Given the description of an element on the screen output the (x, y) to click on. 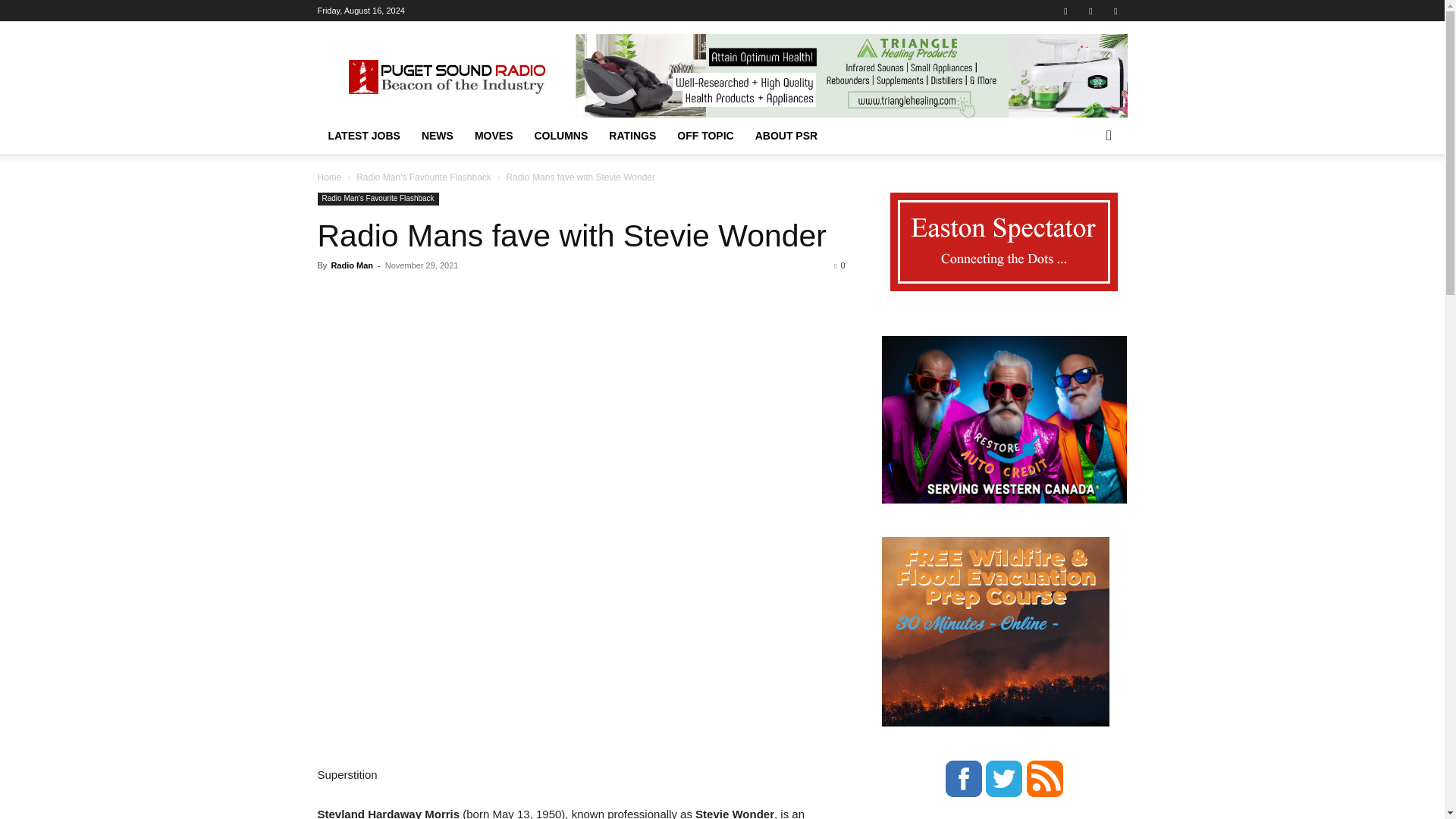
Twitter (1114, 10)
RSS (1090, 10)
Facebook (1065, 10)
View all posts in Radio Man's Favourite Flashback (424, 176)
